Given the description of an element on the screen output the (x, y) to click on. 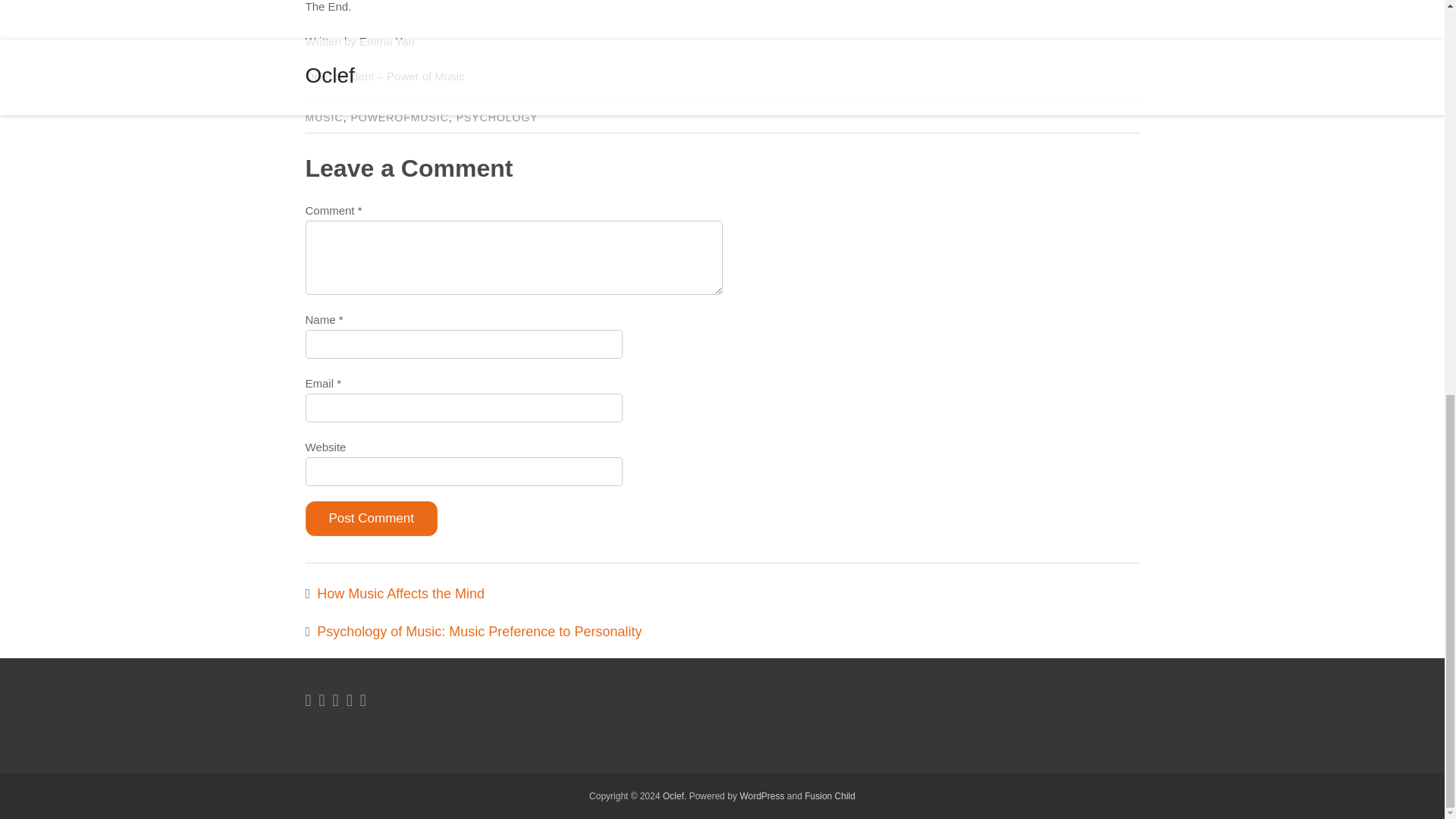
Powered by WordPress (761, 796)
Oclef (673, 796)
Fusion Child (830, 796)
MUSIC (323, 117)
POWEROFMUSIC (399, 117)
Post Comment (370, 518)
Psychology of Music: Music Preference to Personality (479, 631)
Oclef (673, 796)
How Music Affects the Mind (400, 593)
Post Comment (370, 518)
Fusion Child (830, 796)
PSYCHOLOGY (497, 117)
WordPress (761, 796)
